Given the description of an element on the screen output the (x, y) to click on. 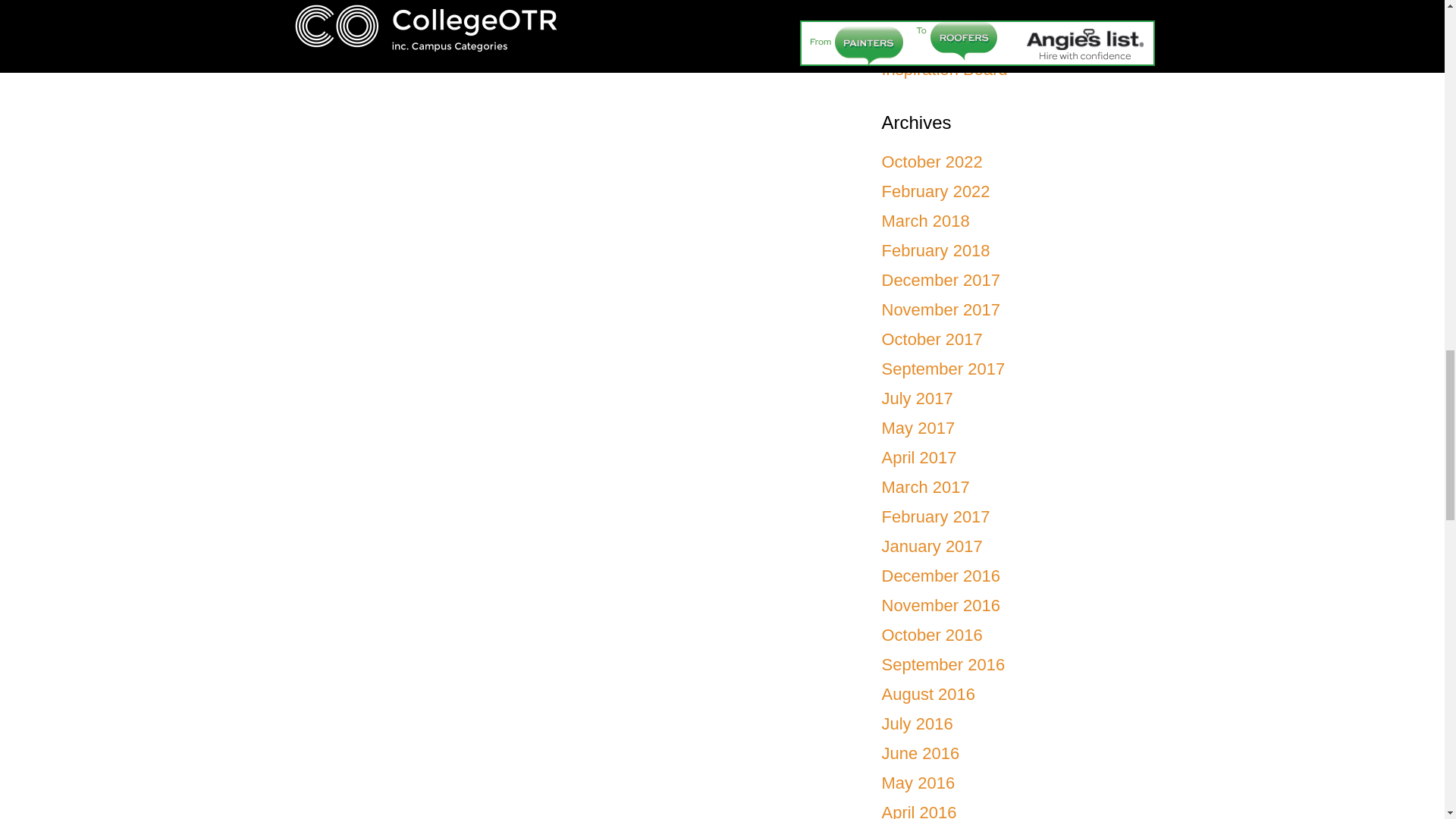
November 2017 (940, 309)
October 2017 (930, 339)
September 2017 (942, 368)
April 2017 (918, 456)
May 2017 (917, 427)
October 2022 (930, 161)
February 2017 (935, 516)
February 2018 (935, 250)
December 2017 (940, 280)
February 2022 (935, 190)
March 2017 (924, 486)
March 2018 (924, 220)
July 2017 (916, 398)
